Given the description of an element on the screen output the (x, y) to click on. 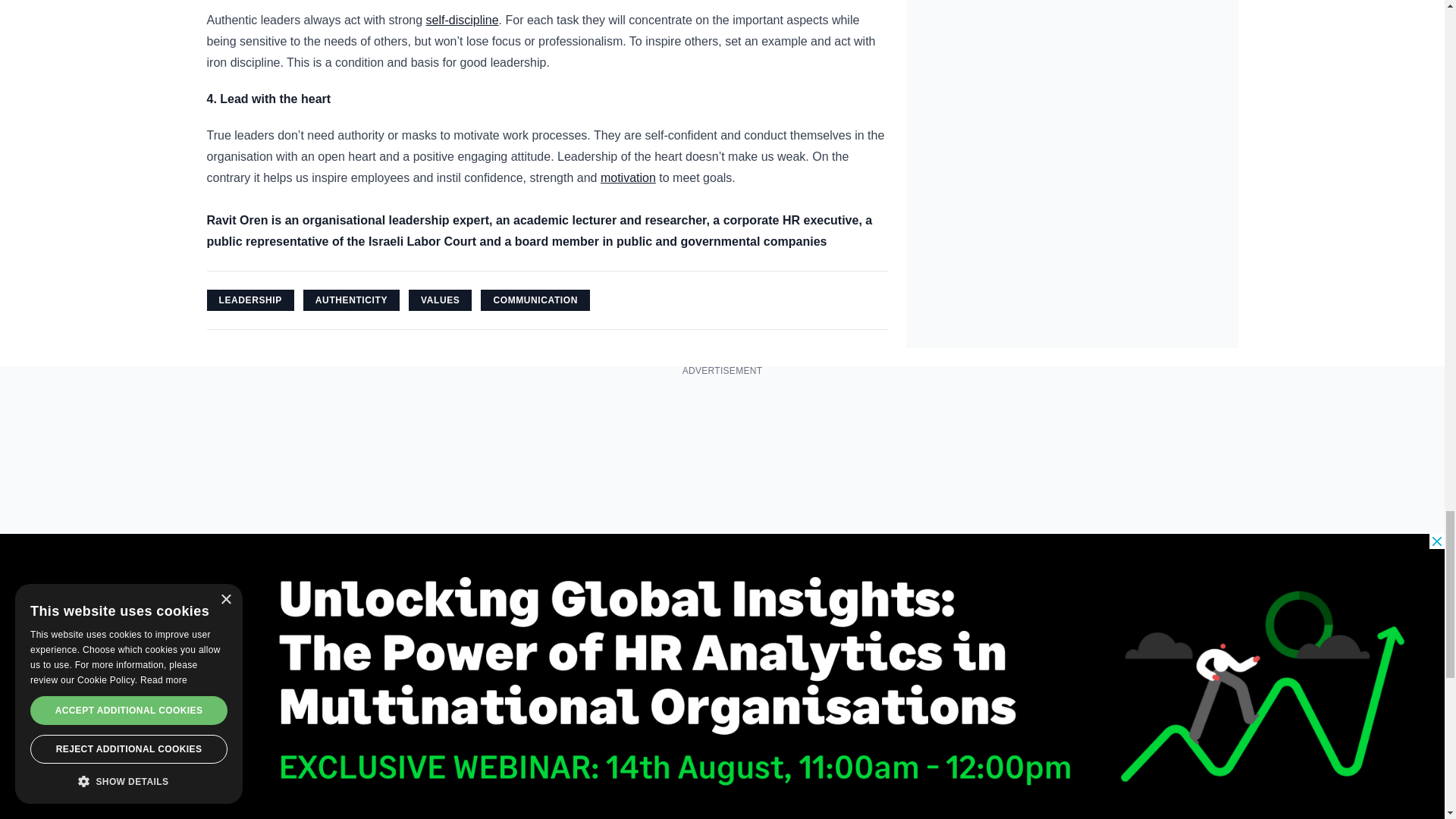
Ethics and HR (462, 19)
